Given the description of an element on the screen output the (x, y) to click on. 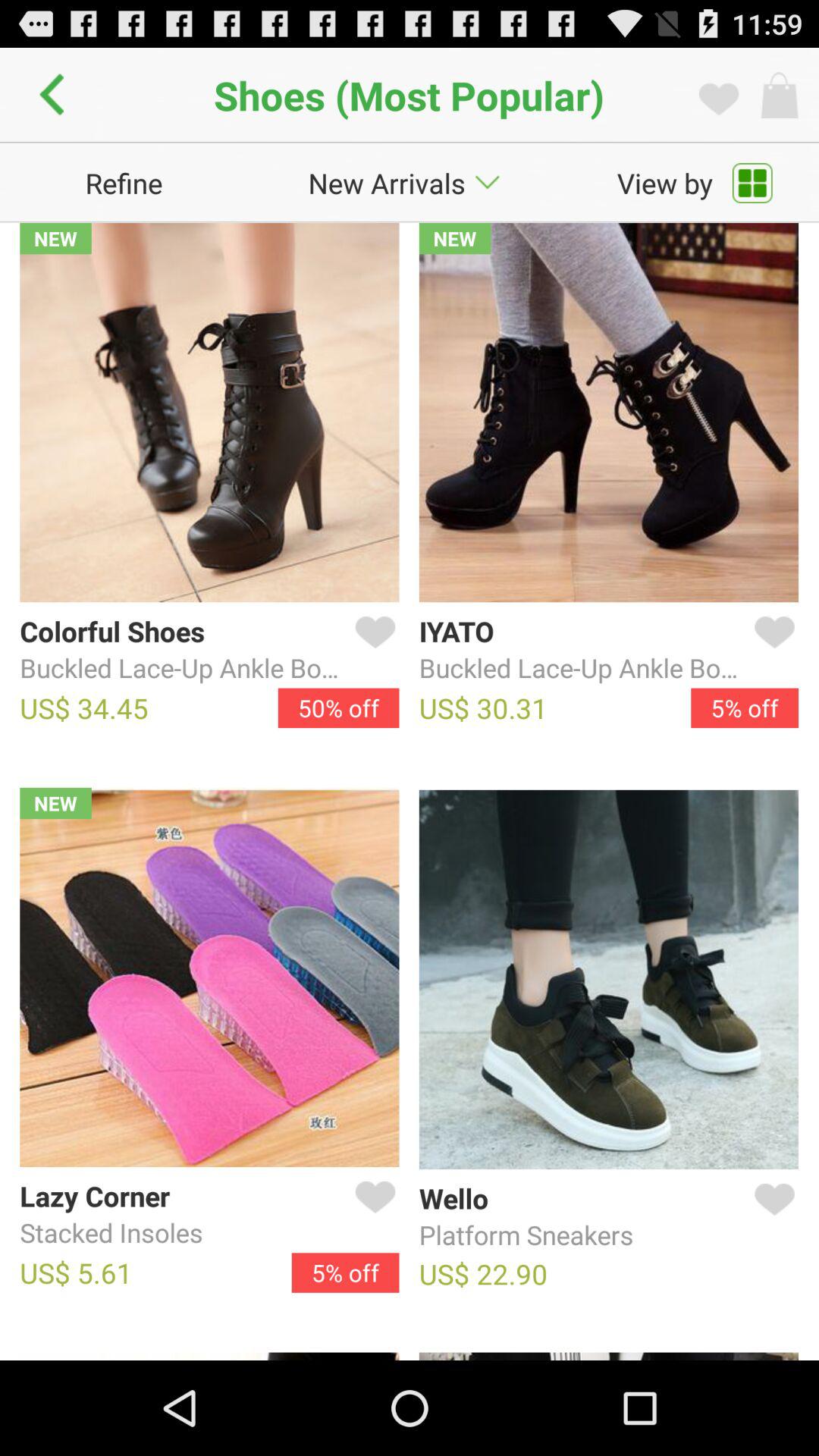
launch icon next to shoes (most popular) app (56, 94)
